Given the description of an element on the screen output the (x, y) to click on. 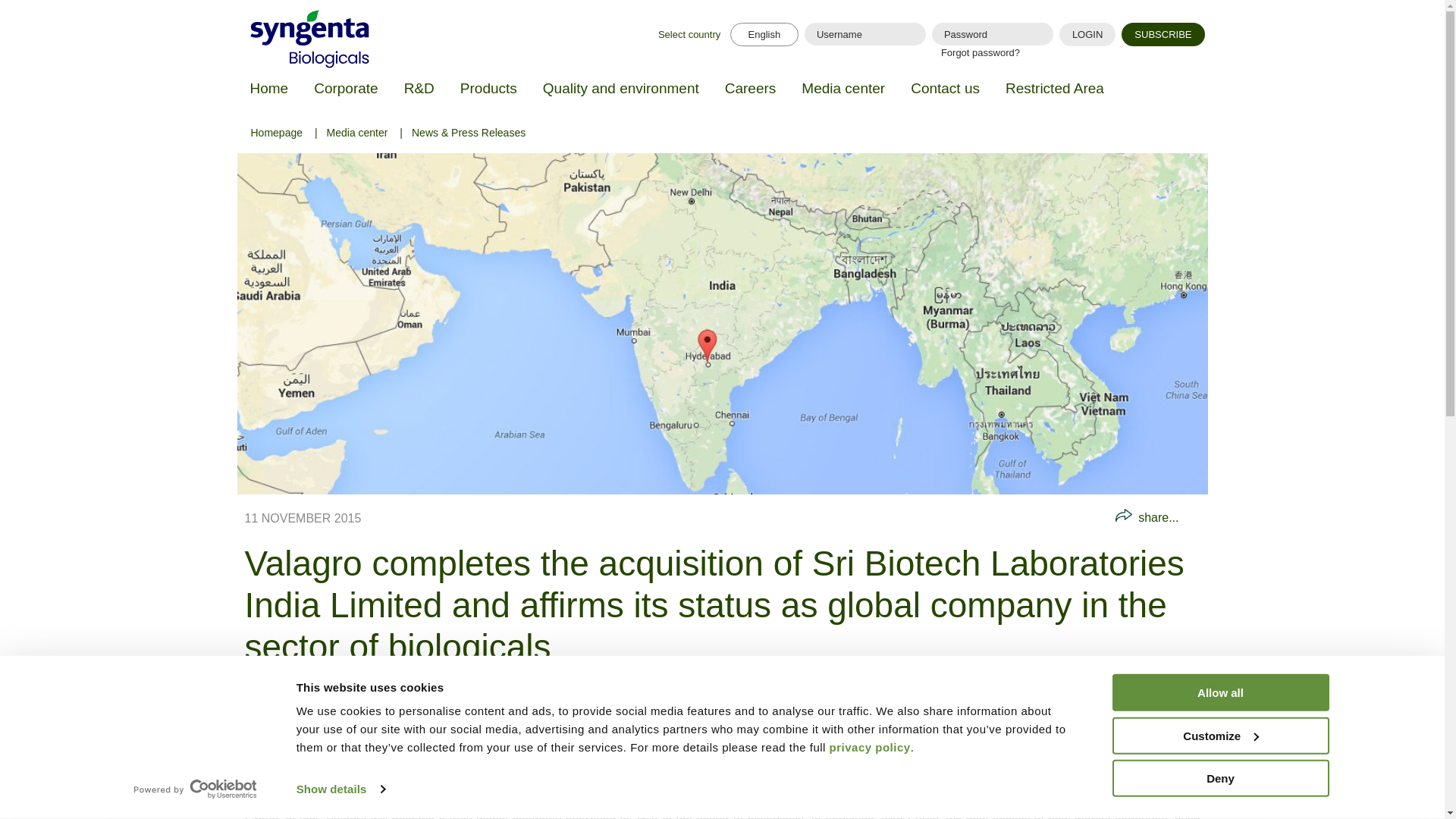
privacy policy (870, 747)
Show details (340, 789)
Customize (1219, 734)
Allow all (1219, 692)
Deny (1219, 778)
